Given the description of an element on the screen output the (x, y) to click on. 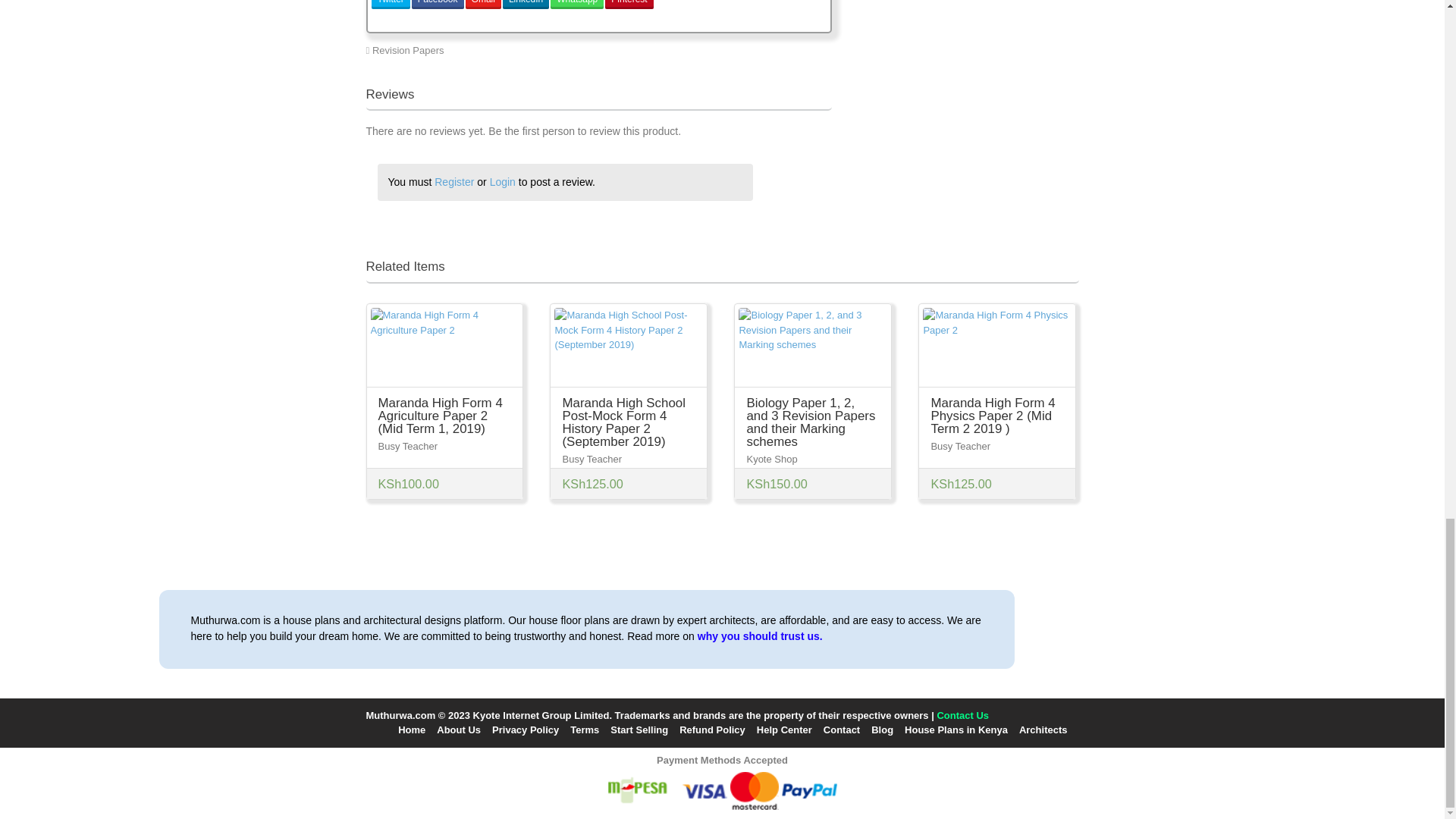
Twitter (390, 4)
Pinterest (628, 4)
Revision Papers (408, 50)
Maranda Mid-Term 2 Past Papers 2021 (739, 50)
Facebook (438, 4)
Whatsapp (577, 4)
contact us (962, 715)
Gmail (482, 4)
LinkedIn (525, 4)
